Given the description of an element on the screen output the (x, y) to click on. 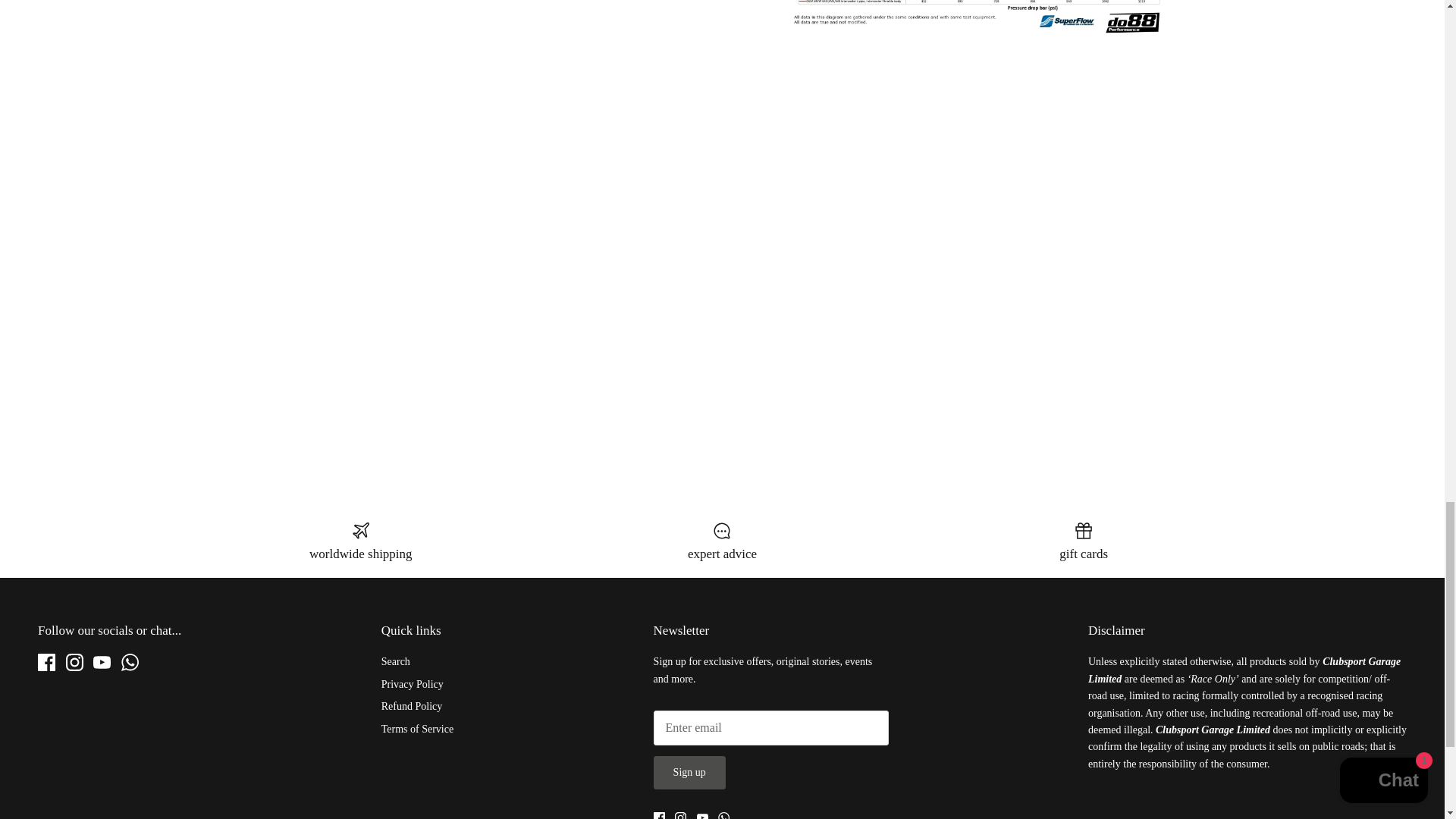
Instagram (680, 815)
Instagram (73, 661)
Facebook (659, 815)
Youtube (101, 661)
Youtube (702, 815)
Facebook (46, 661)
